Given the description of an element on the screen output the (x, y) to click on. 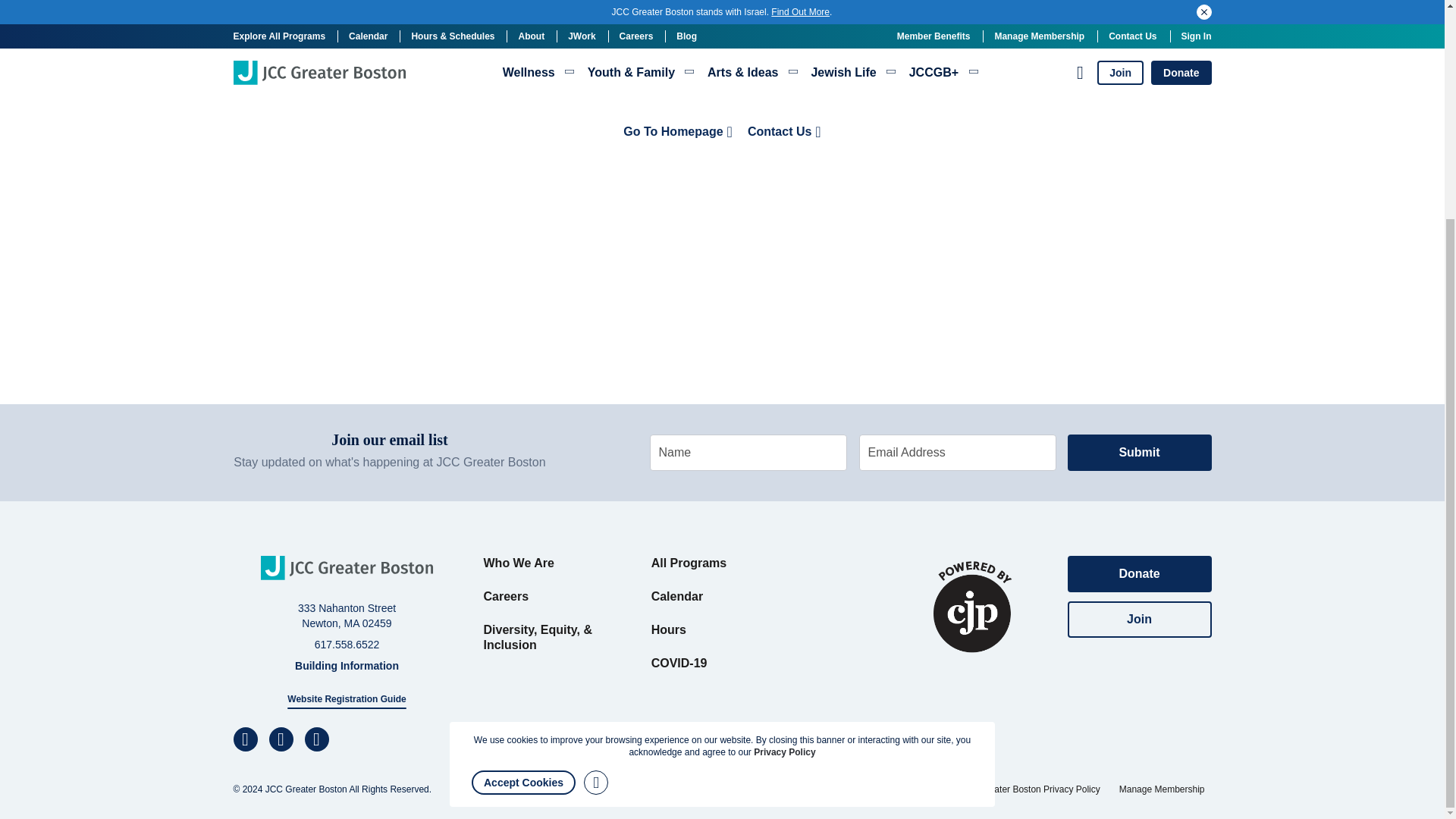
Join (1139, 619)
Donate (1139, 574)
